Given the description of an element on the screen output the (x, y) to click on. 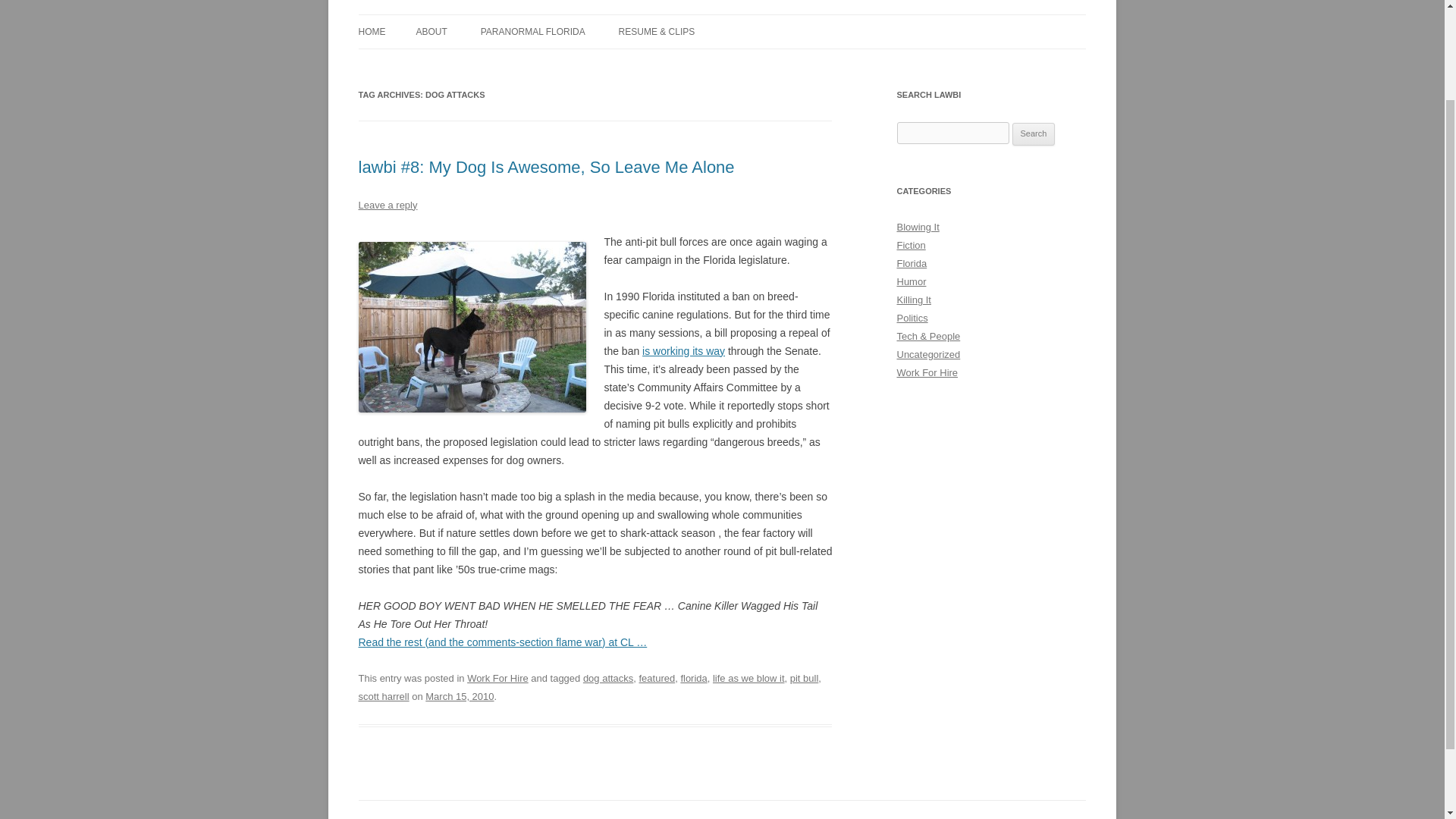
Fiction (910, 244)
Florida (911, 263)
Work For Hire (497, 677)
pit bull (804, 677)
March 15, 2010 (459, 696)
florida (692, 677)
Uncategorized (927, 354)
scott harrell (383, 696)
Search (1033, 133)
